Given the description of an element on the screen output the (x, y) to click on. 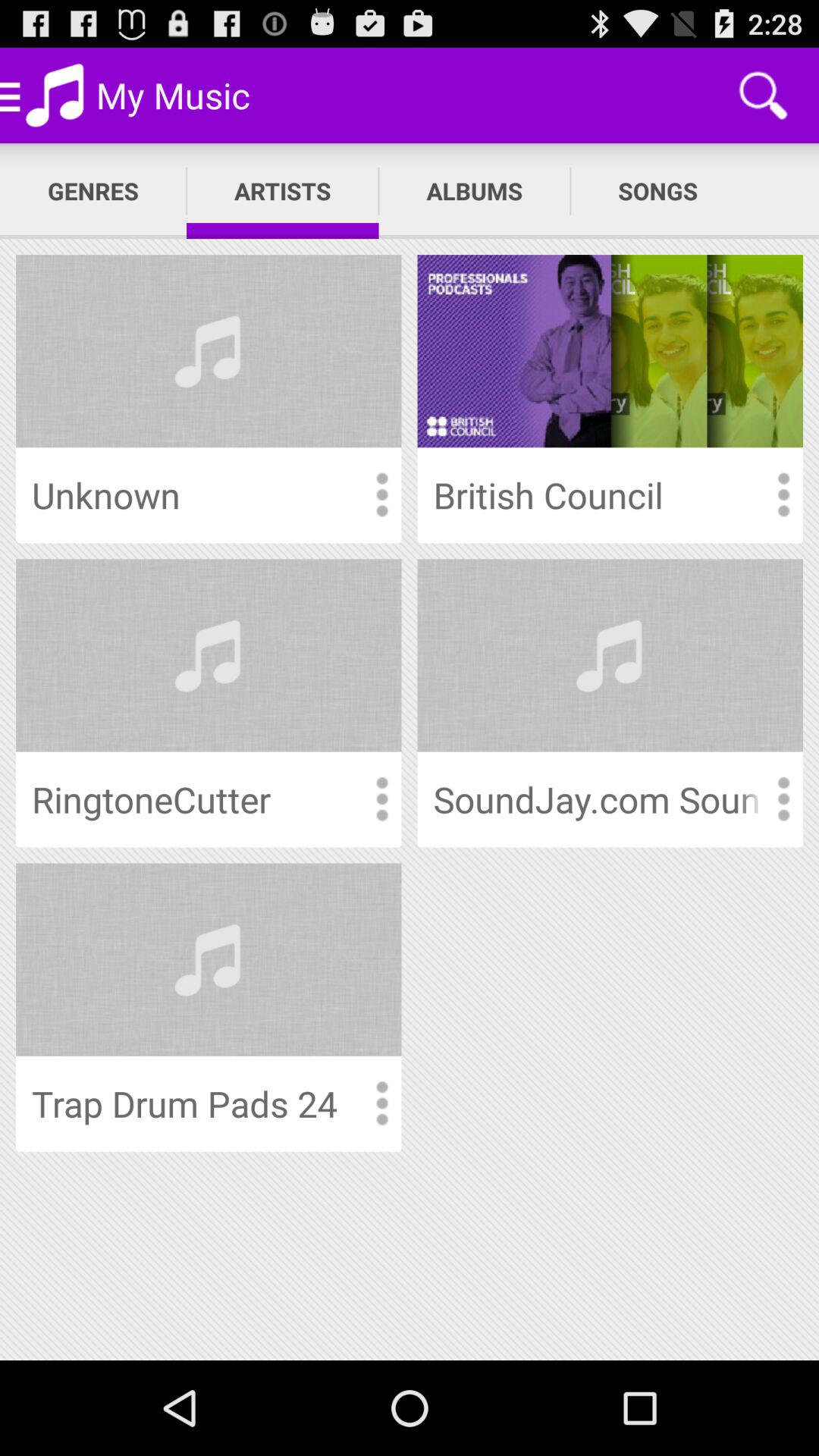
launch icon to the left of the songs (474, 190)
